Given the description of an element on the screen output the (x, y) to click on. 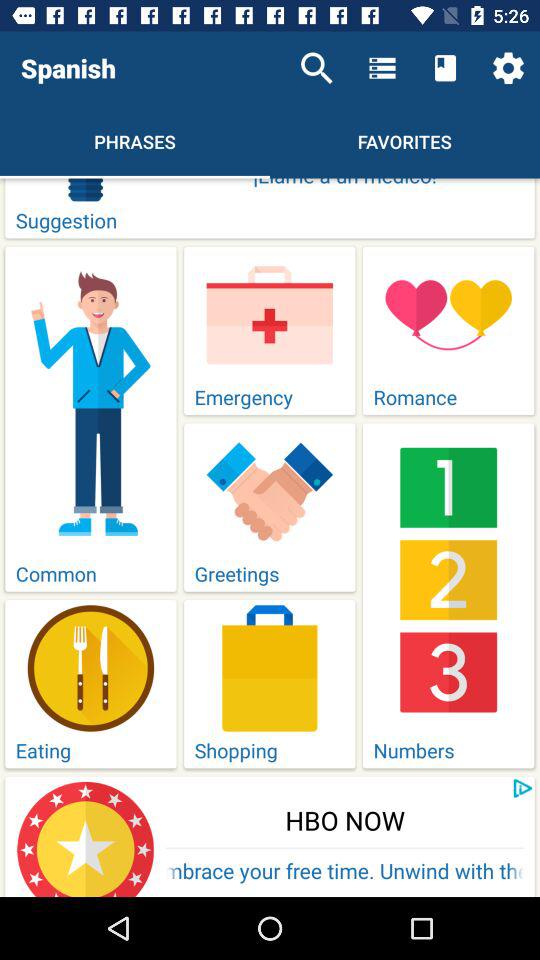
swipe to embrace your free (345, 872)
